Given the description of an element on the screen output the (x, y) to click on. 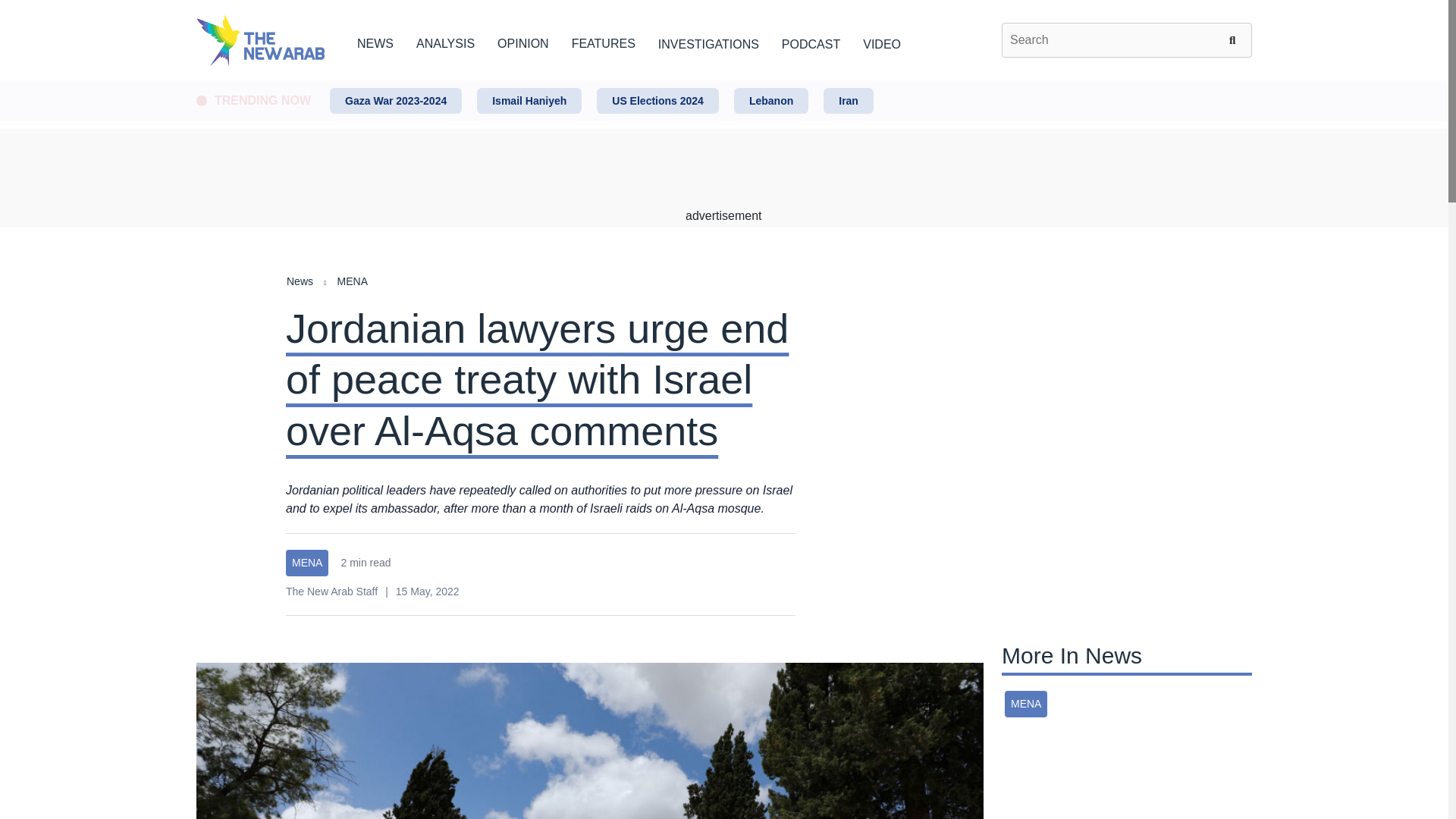
NEWS (375, 41)
ANALYSIS (445, 41)
Skip to main content (724, 81)
Search (1234, 39)
OPINION (523, 41)
